Given the description of an element on the screen output the (x, y) to click on. 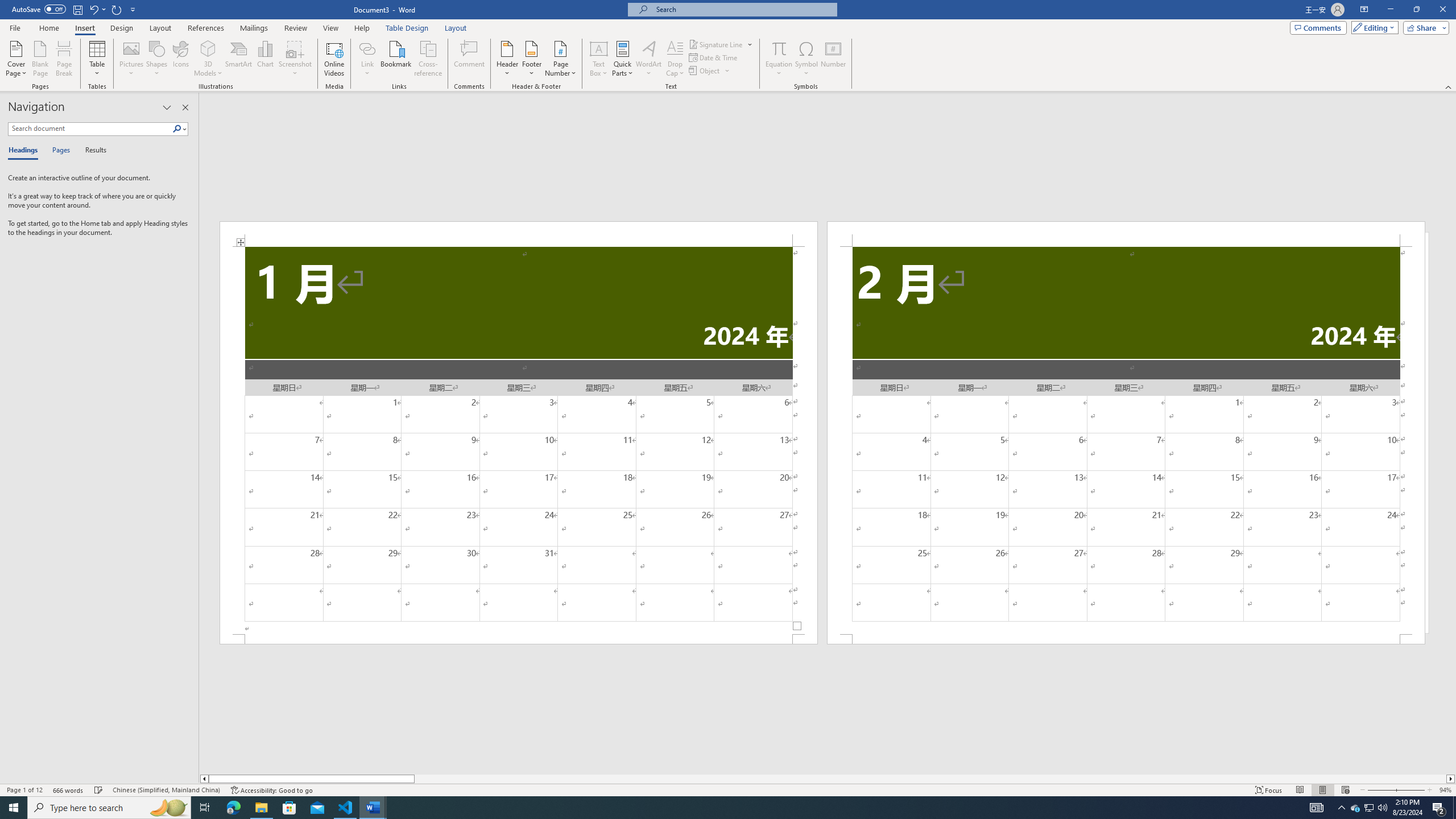
Object... (709, 69)
Link (367, 48)
Page 1 content (518, 439)
Search document (89, 128)
Spelling and Grammar Check Checking (98, 790)
Symbol (806, 58)
Minimize (1390, 9)
References (205, 28)
Class: NetUIImage (177, 128)
Equation (778, 58)
Screenshot (295, 58)
Equation (778, 48)
